Given the description of an element on the screen output the (x, y) to click on. 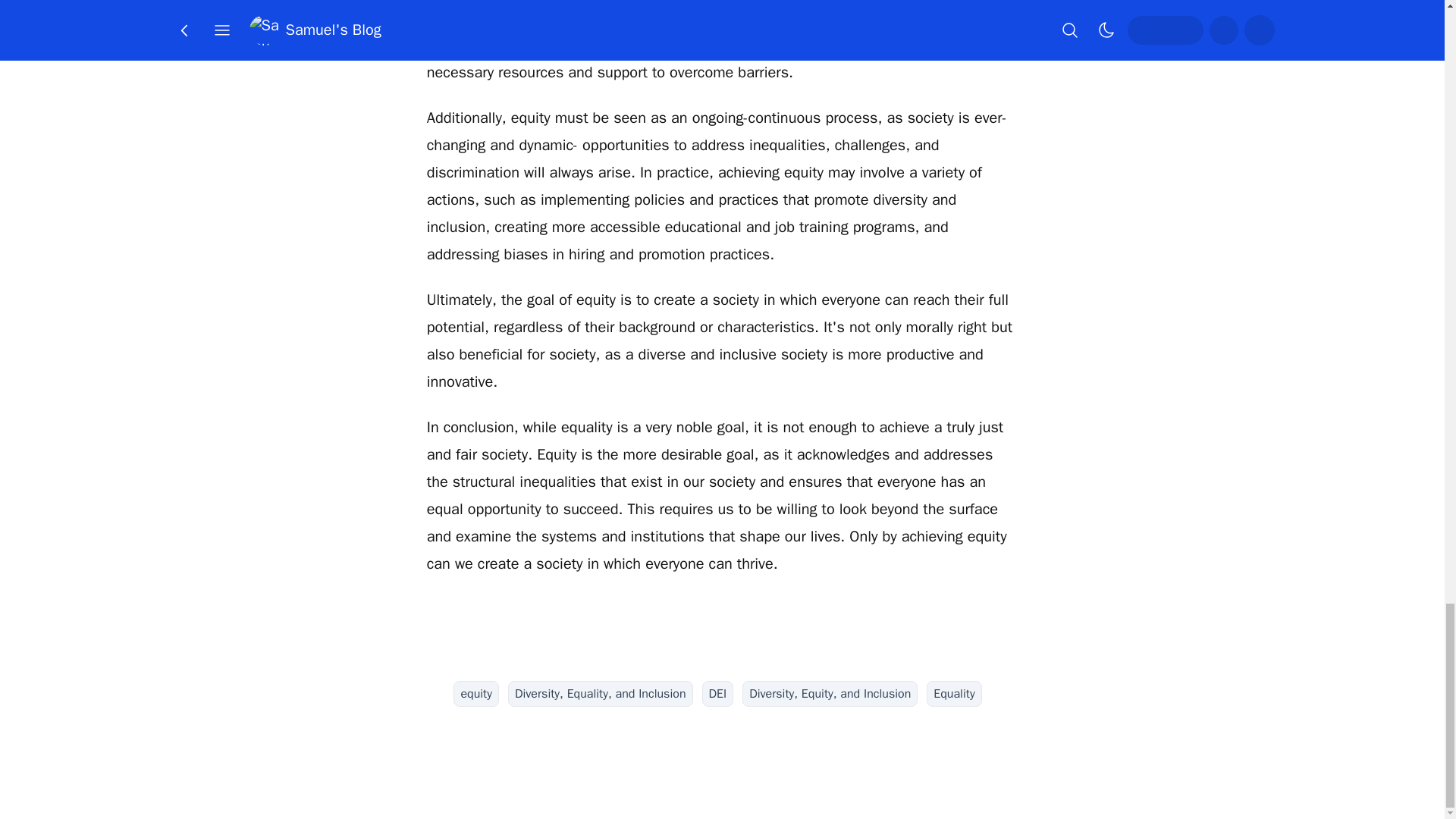
DEI (717, 693)
Equality (953, 693)
Diversity, Equality, and Inclusion (600, 693)
equity (475, 693)
Diversity, Equity, and Inclusion (829, 693)
